Given the description of an element on the screen output the (x, y) to click on. 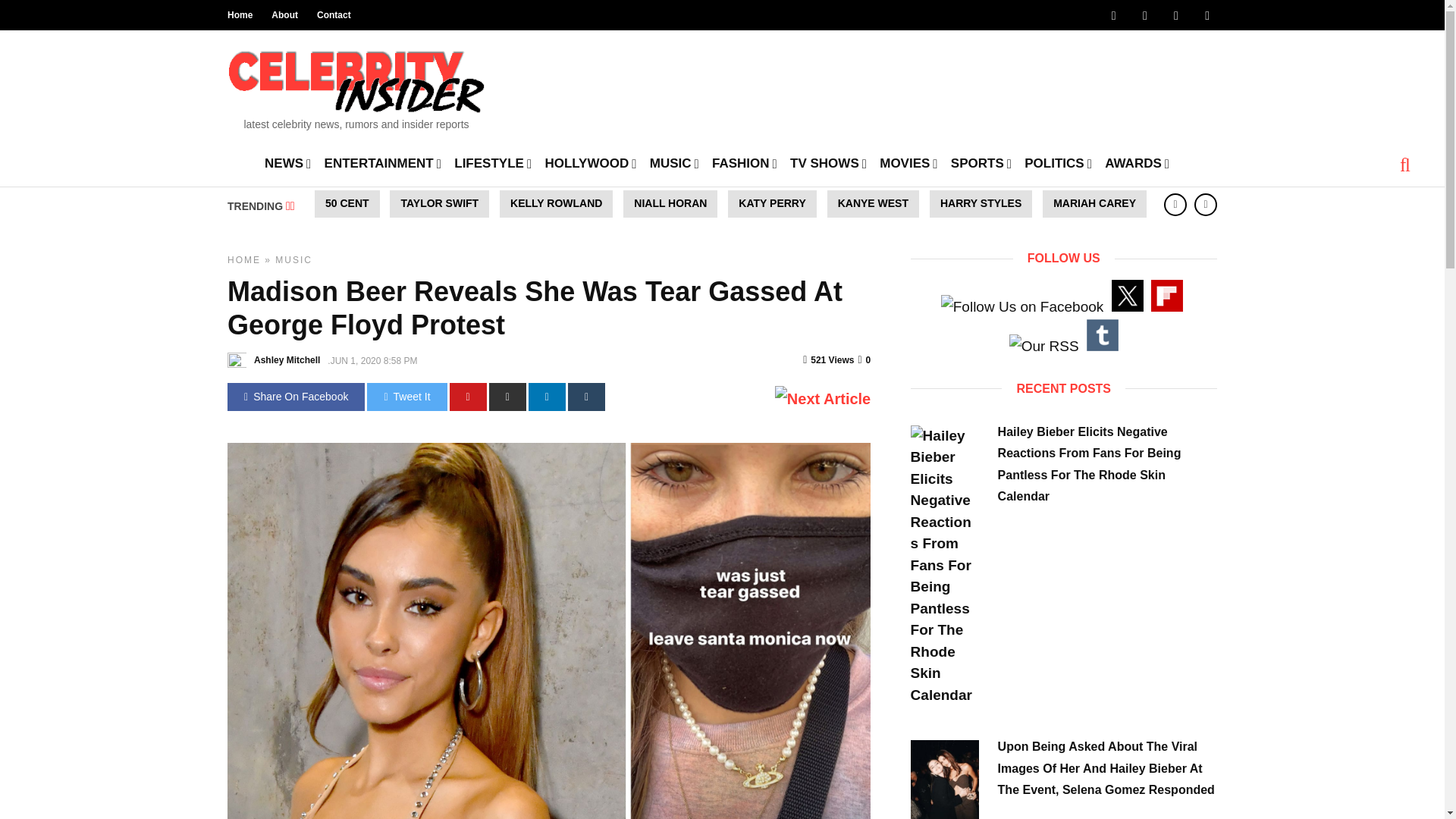
Share On Pinterest (467, 397)
NIALL HORAN (670, 203)
Share On Linkedin (547, 397)
Share On Facebook (296, 397)
50 CENT (347, 203)
KELLY ROWLAND (555, 203)
Share On Reddit (507, 397)
FASHION (744, 162)
MOVIES (908, 162)
TAYLOR SWIFT (439, 203)
